Given the description of an element on the screen output the (x, y) to click on. 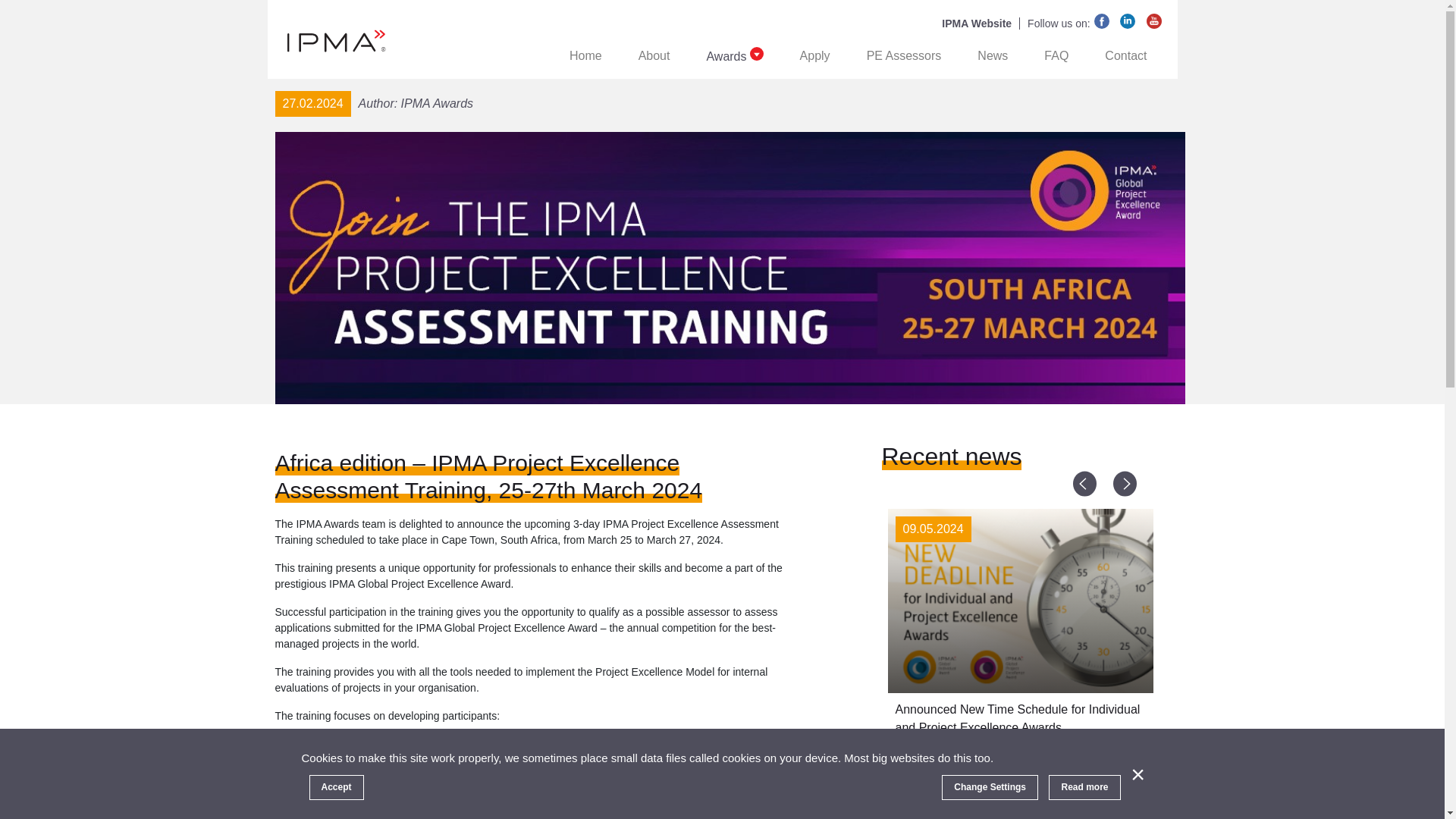
About (654, 55)
PE Assessors (903, 55)
News (992, 55)
News (992, 55)
Awards (734, 56)
IPMA Website (981, 23)
FAQ (1056, 55)
FAQ (1056, 55)
Home (585, 55)
Contact (1126, 55)
PE Assessors (903, 55)
Home (585, 55)
Apply (814, 55)
Apply (814, 55)
